Given the description of an element on the screen output the (x, y) to click on. 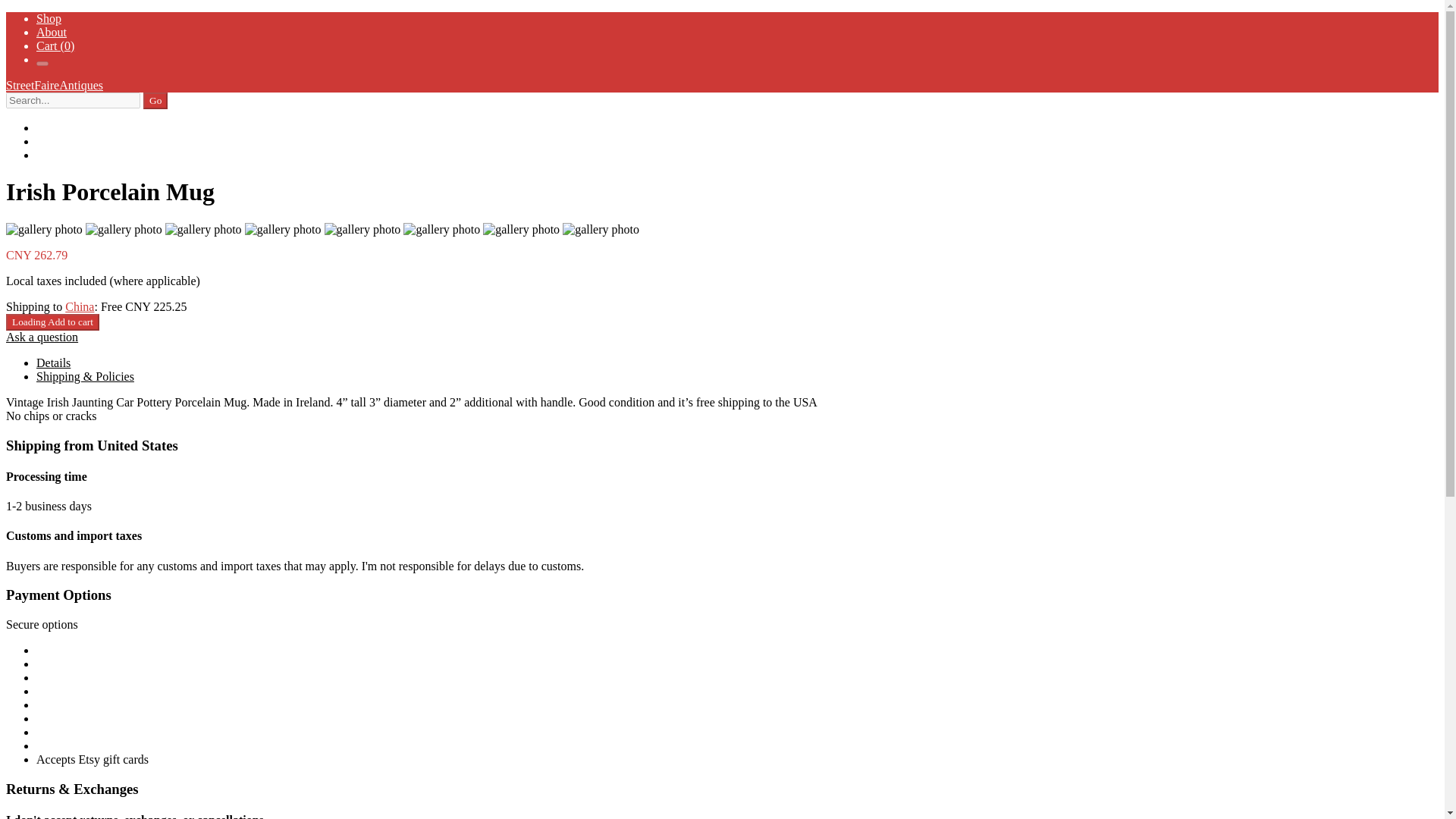
Go (154, 100)
Go (154, 100)
China (79, 306)
About (51, 31)
Loading Add to cart (52, 321)
Details (52, 362)
Ask a question (41, 336)
Shop (48, 18)
